Given the description of an element on the screen output the (x, y) to click on. 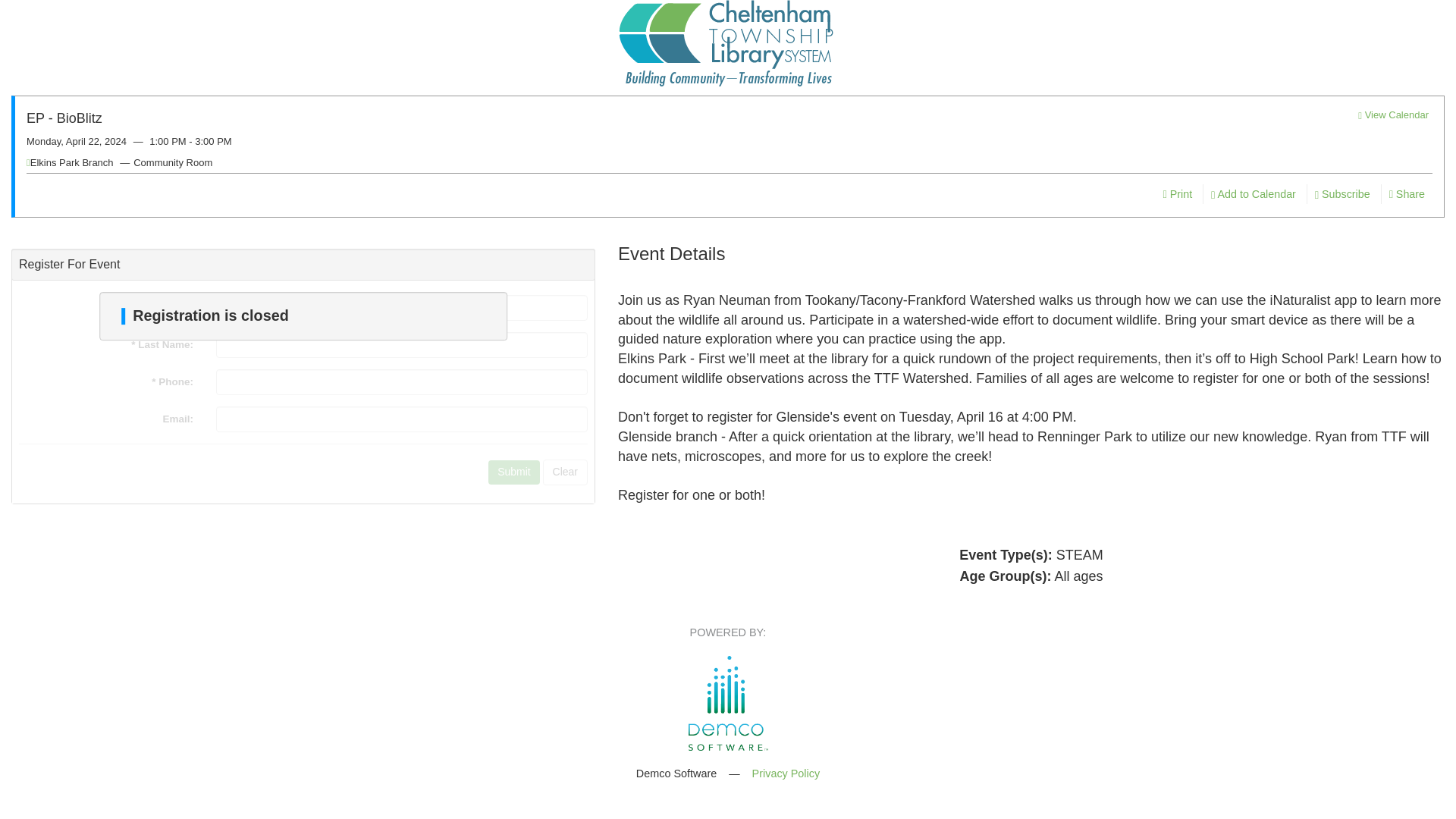
Submit (513, 472)
Share (1406, 193)
Clear (565, 472)
View Calendar (1393, 114)
Privacy Policy (786, 773)
Print (1177, 193)
Subscribe (1341, 193)
Add to Calendar (1252, 193)
